Given the description of an element on the screen output the (x, y) to click on. 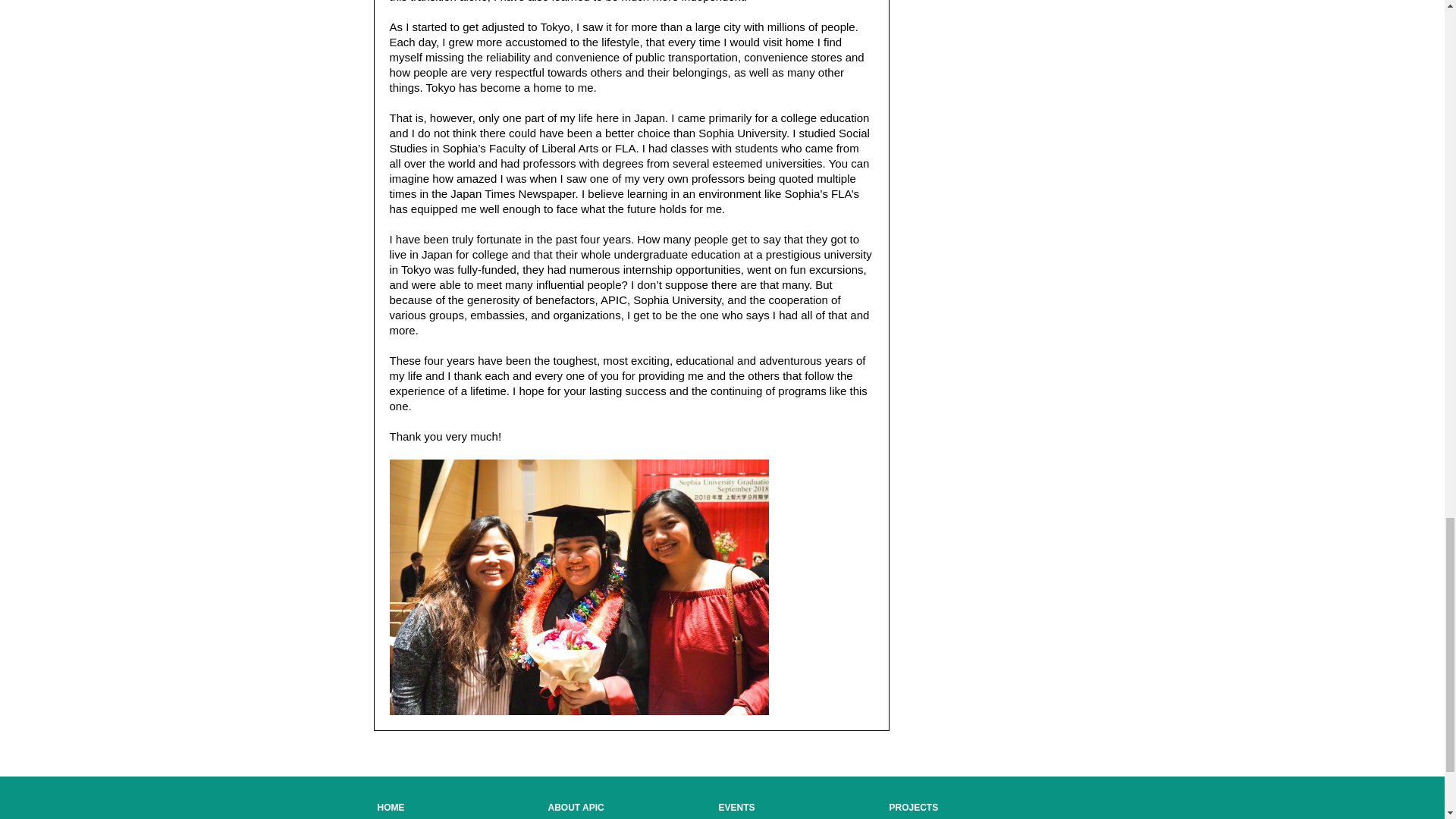
HOME (390, 807)
ABOUT APIC (575, 807)
EVENTS (737, 807)
ABOUT APIC (575, 807)
HOME (390, 807)
PROJECTS (912, 807)
EVENTS (737, 807)
PROJECTS (912, 807)
